Given the description of an element on the screen output the (x, y) to click on. 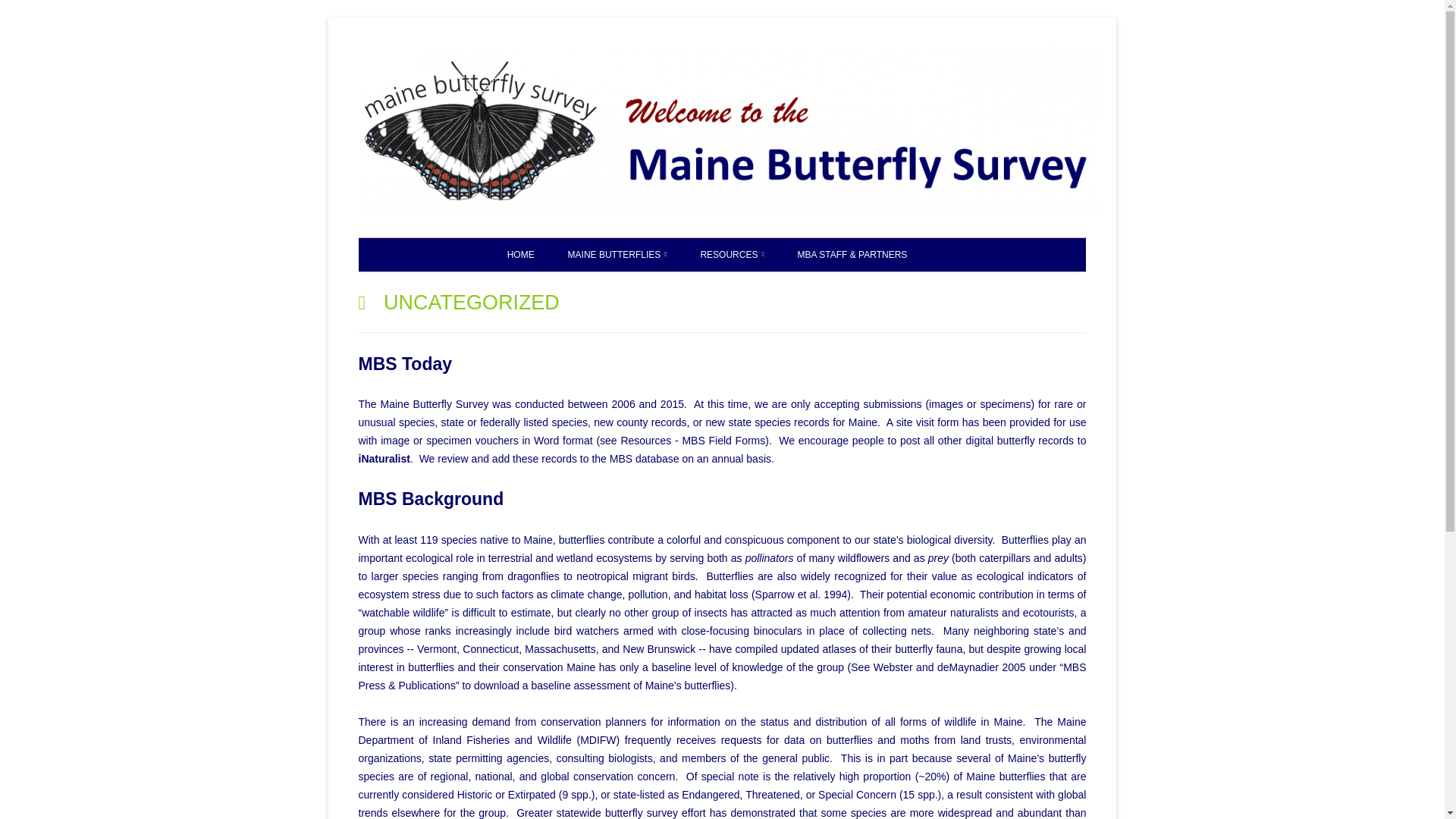
MAINE BUTTERFLIES (616, 254)
RESOURCES (731, 254)
Skip to content (1156, 50)
Skip to content (1156, 50)
